Given the description of an element on the screen output the (x, y) to click on. 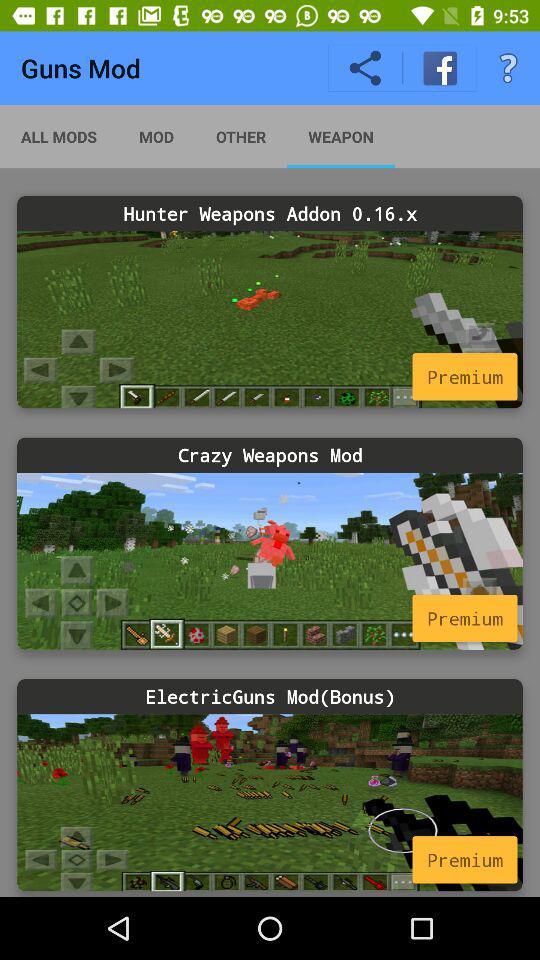
click electricguns mod(bonus) (269, 696)
